Given the description of an element on the screen output the (x, y) to click on. 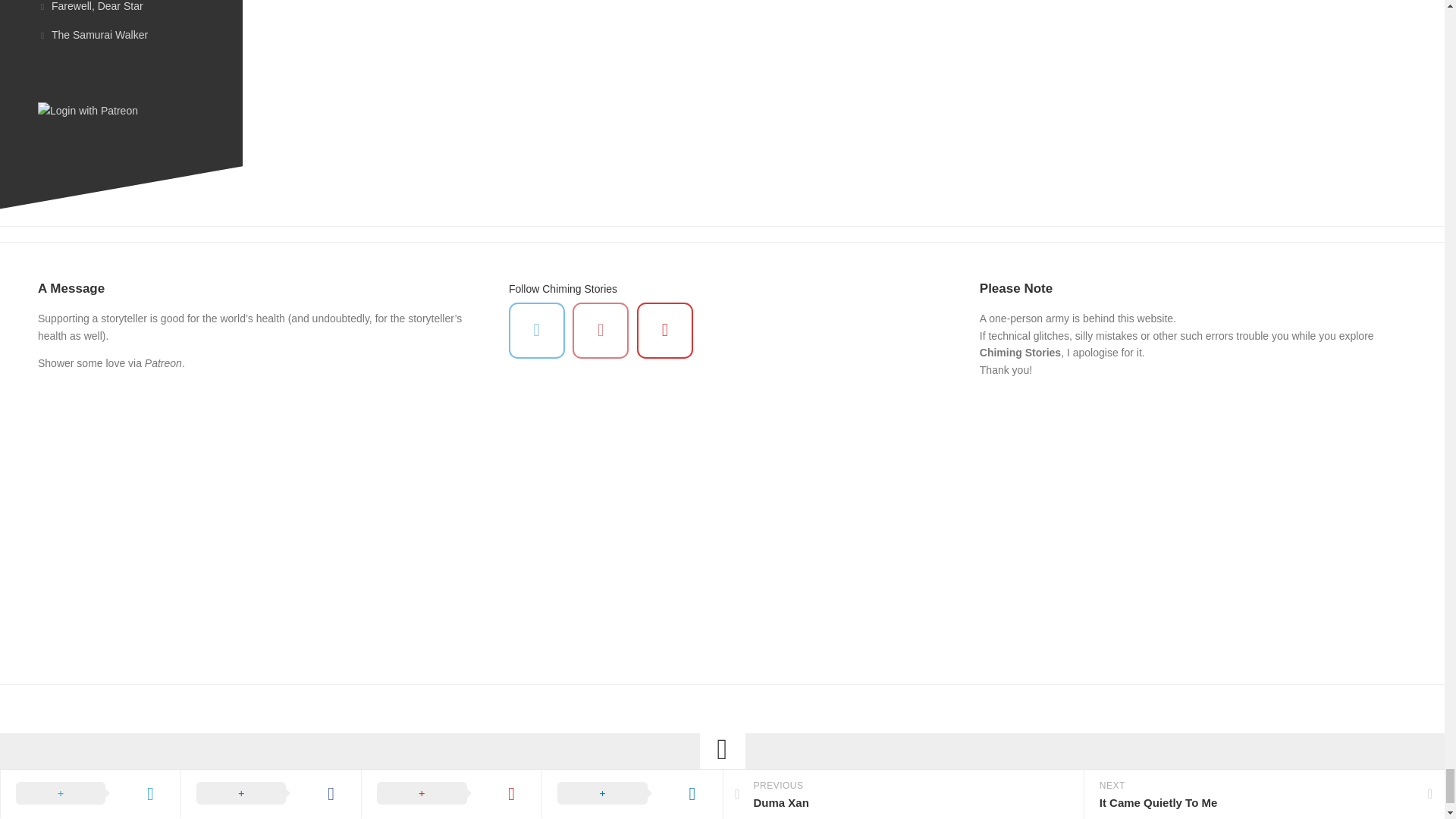
Twitter  (536, 330)
Chiming Stories on Pinterest (600, 330)
Chiming Stories on Patreon (665, 330)
